Given the description of an element on the screen output the (x, y) to click on. 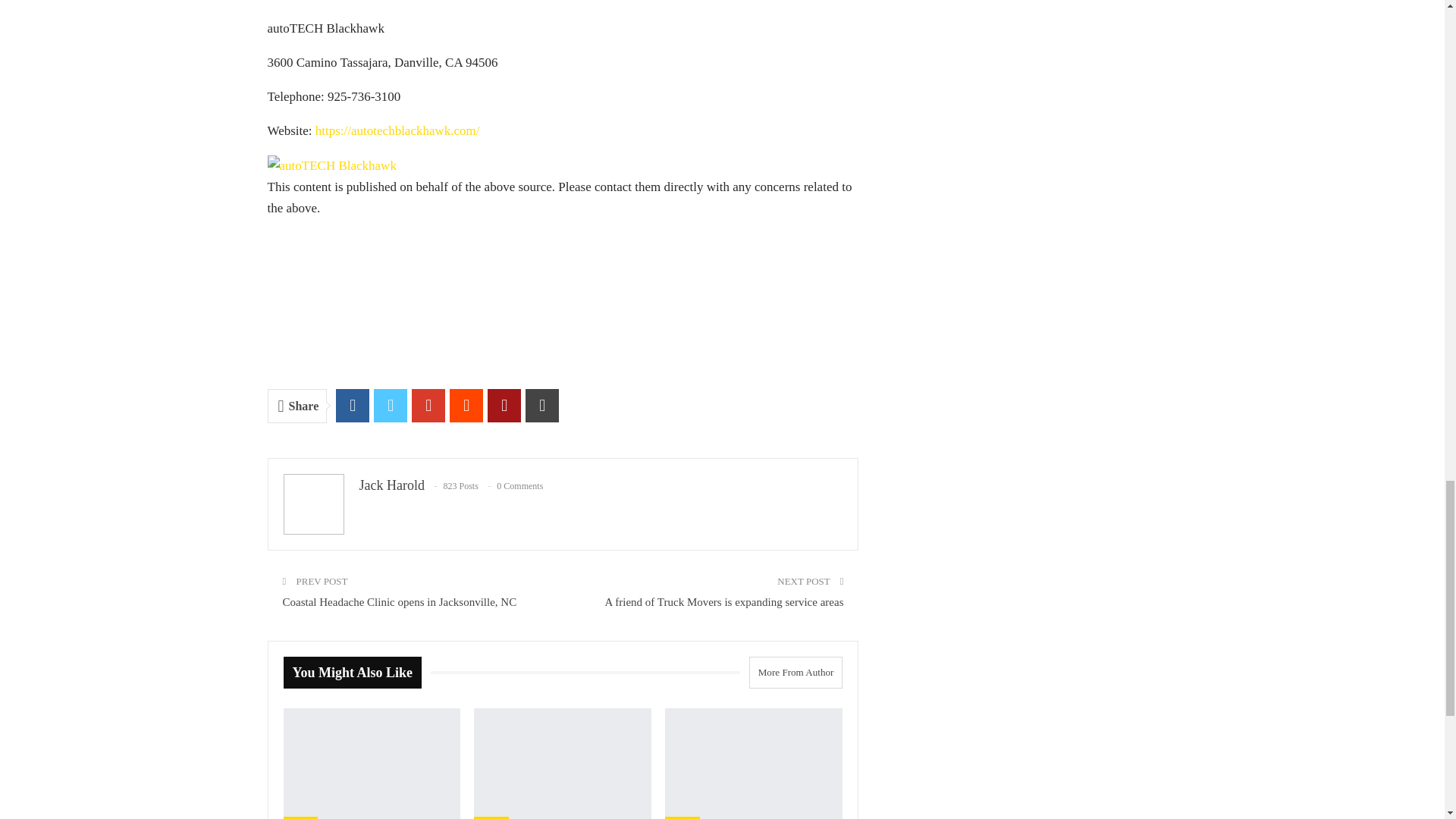
How to Use and Climbing With An Ice Axe (562, 763)
Your Rights As a Title IX Lawyer (372, 763)
Title IX Lawyers Protect Students Against Sex Discrimination (754, 763)
